Given the description of an element on the screen output the (x, y) to click on. 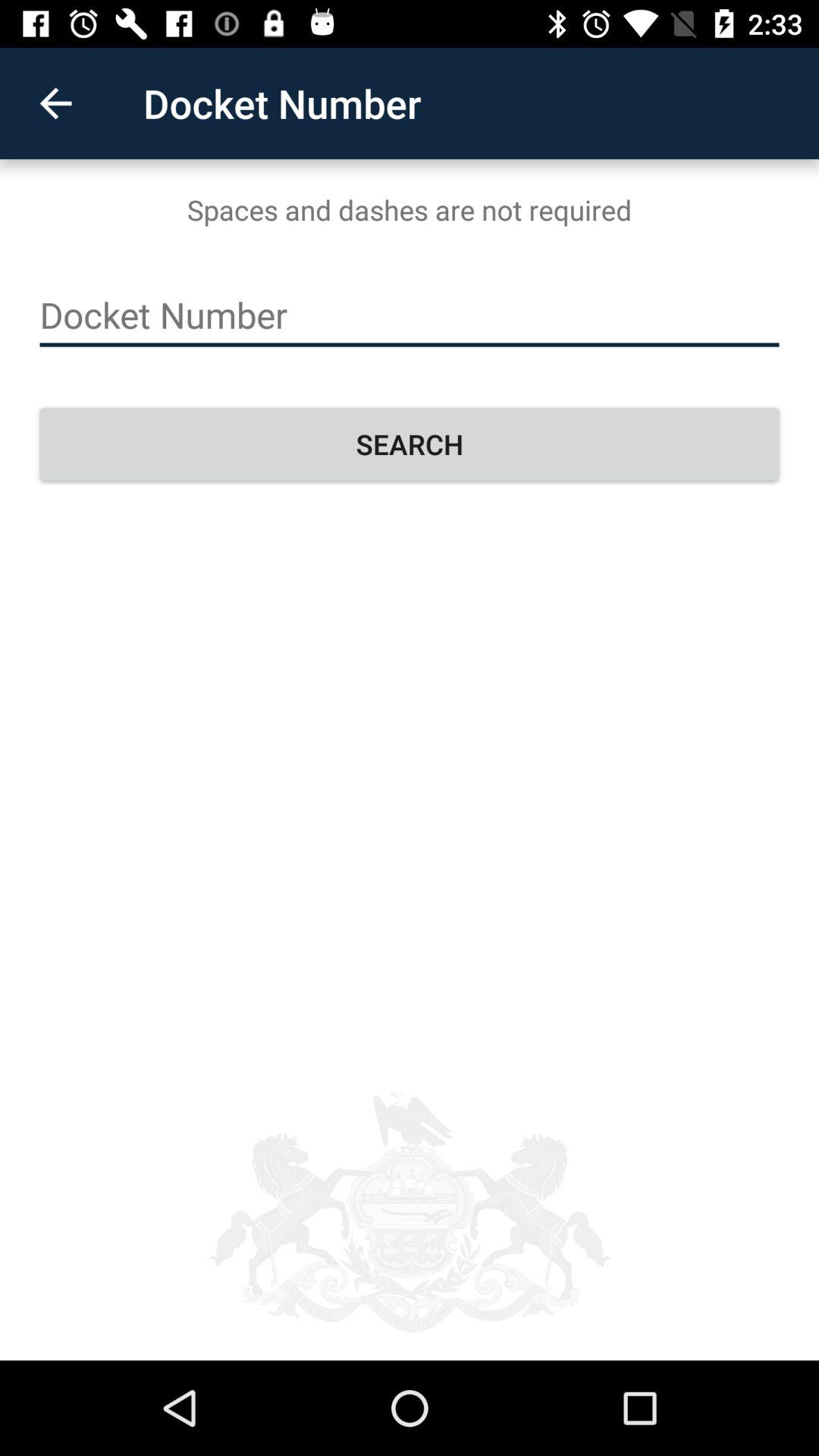
press item below spaces and dashes (409, 315)
